Given the description of an element on the screen output the (x, y) to click on. 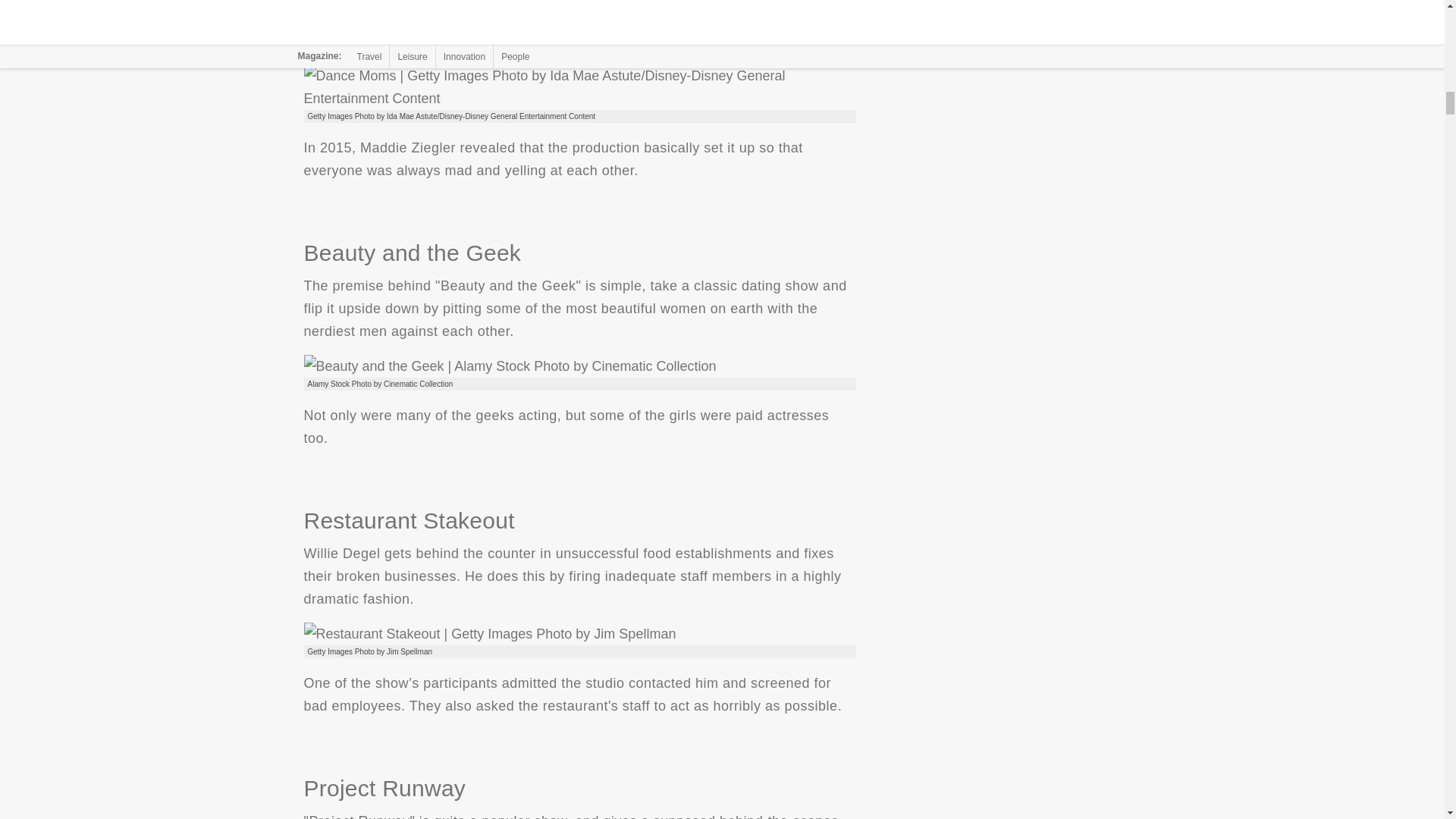
Beauty and the Geek (509, 365)
Restaurant Stakeout (488, 633)
Dance Moms (579, 86)
